Given the description of an element on the screen output the (x, y) to click on. 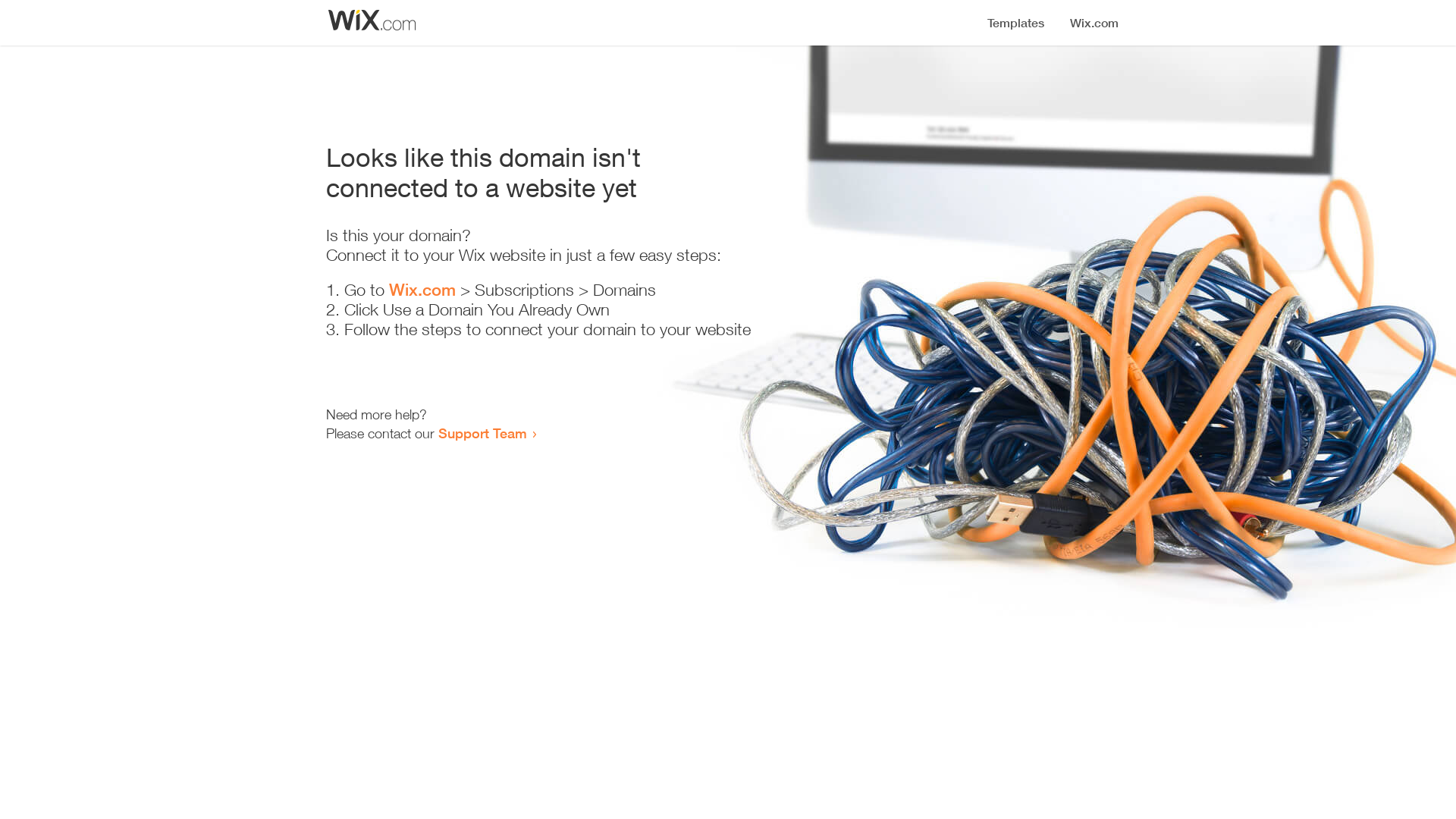
Support Team Element type: text (482, 432)
Wix.com Element type: text (422, 289)
